Given the description of an element on the screen output the (x, y) to click on. 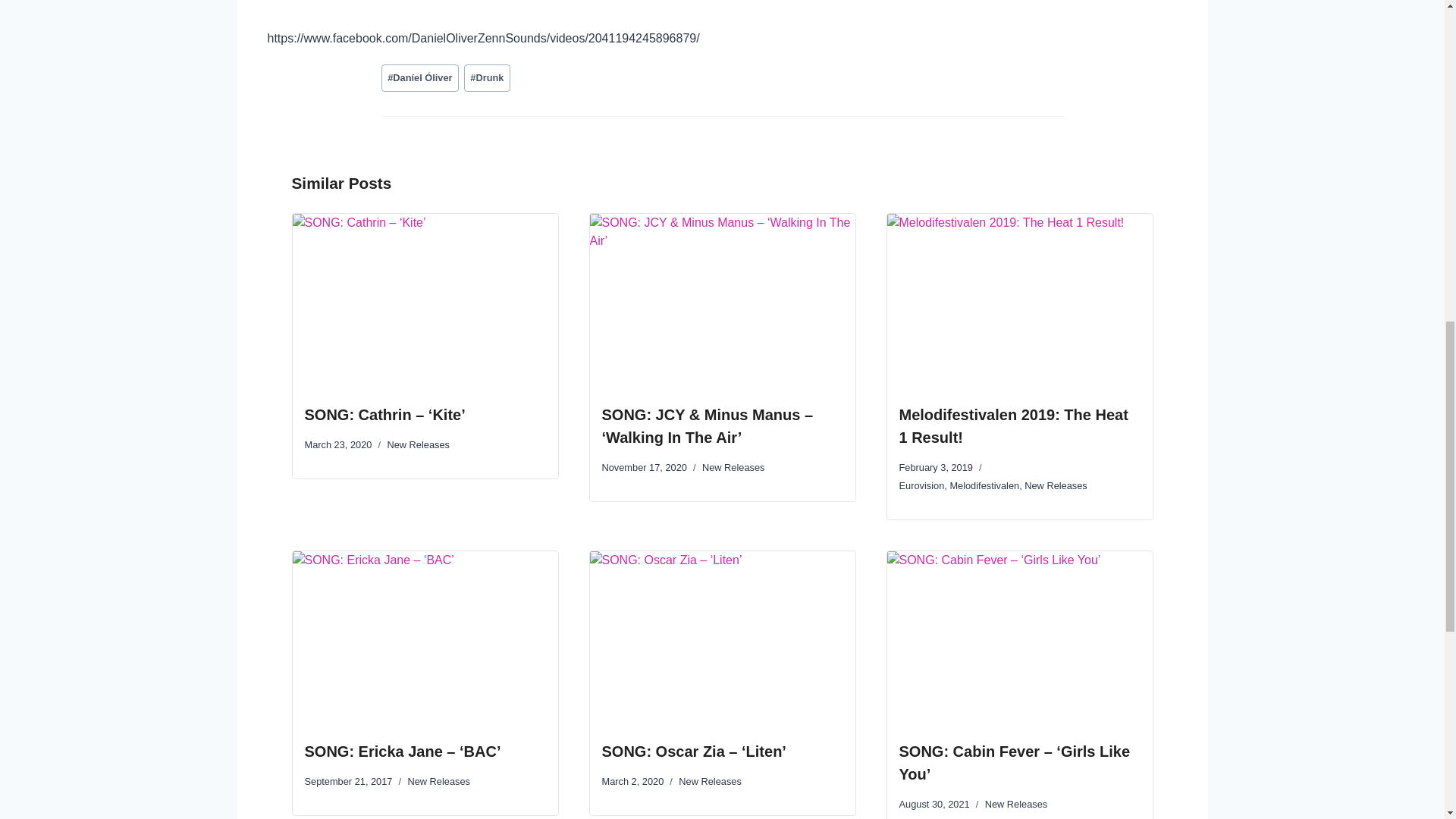
New Releases (1056, 485)
New Releases (733, 467)
New Releases (1016, 803)
New Releases (418, 444)
New Releases (709, 781)
Eurovision (921, 485)
Melodifestivalen (984, 485)
New Releases (438, 781)
Melodifestivalen 2019: The Heat 1 Result! (1013, 425)
Drunk (487, 77)
